Given the description of an element on the screen output the (x, y) to click on. 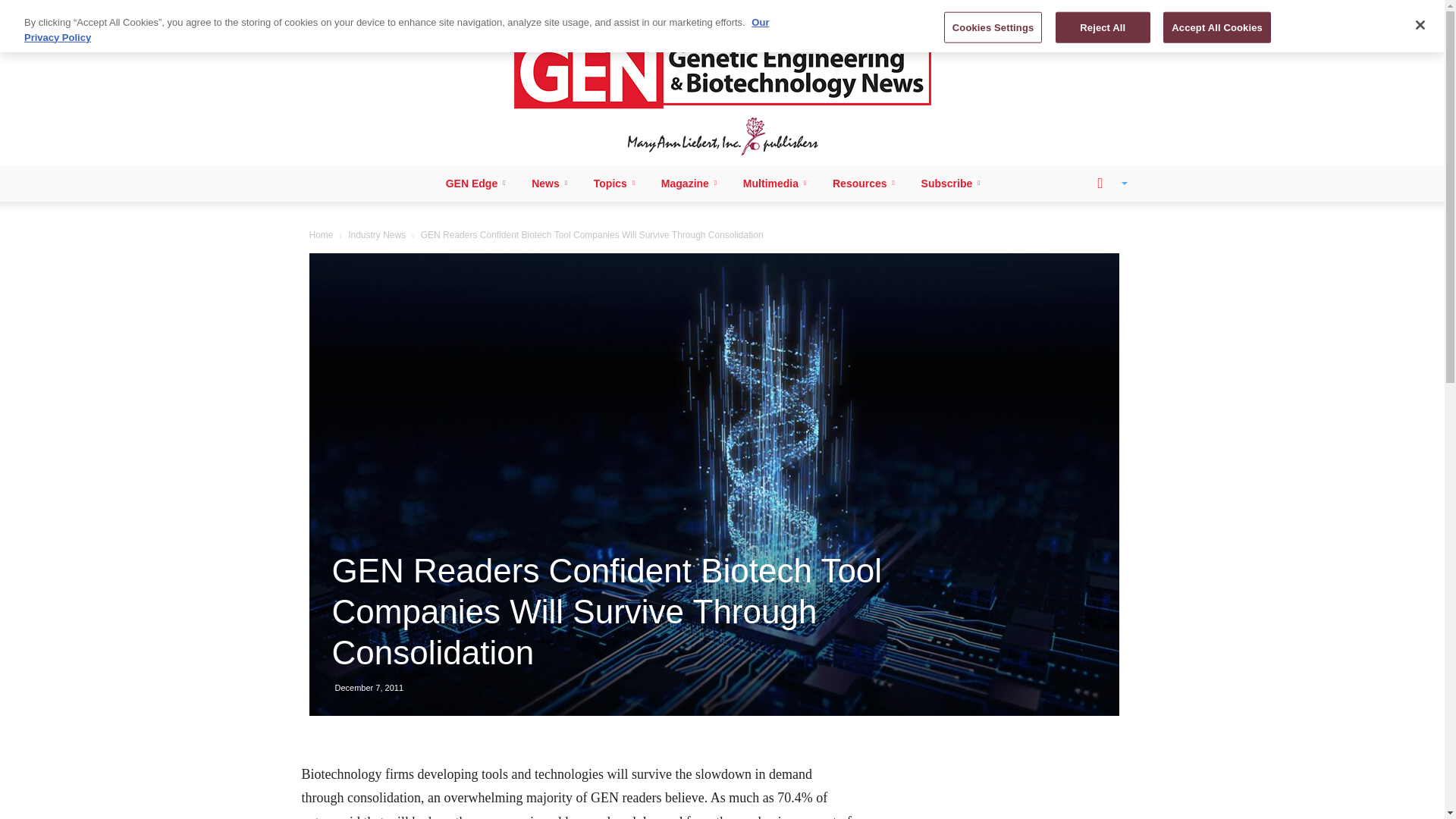
Linkedin (353, 10)
View all posts in Industry News (376, 235)
Youtube (429, 10)
Facebook (328, 10)
RSS (379, 10)
Twitter (403, 10)
